Given the description of an element on the screen output the (x, y) to click on. 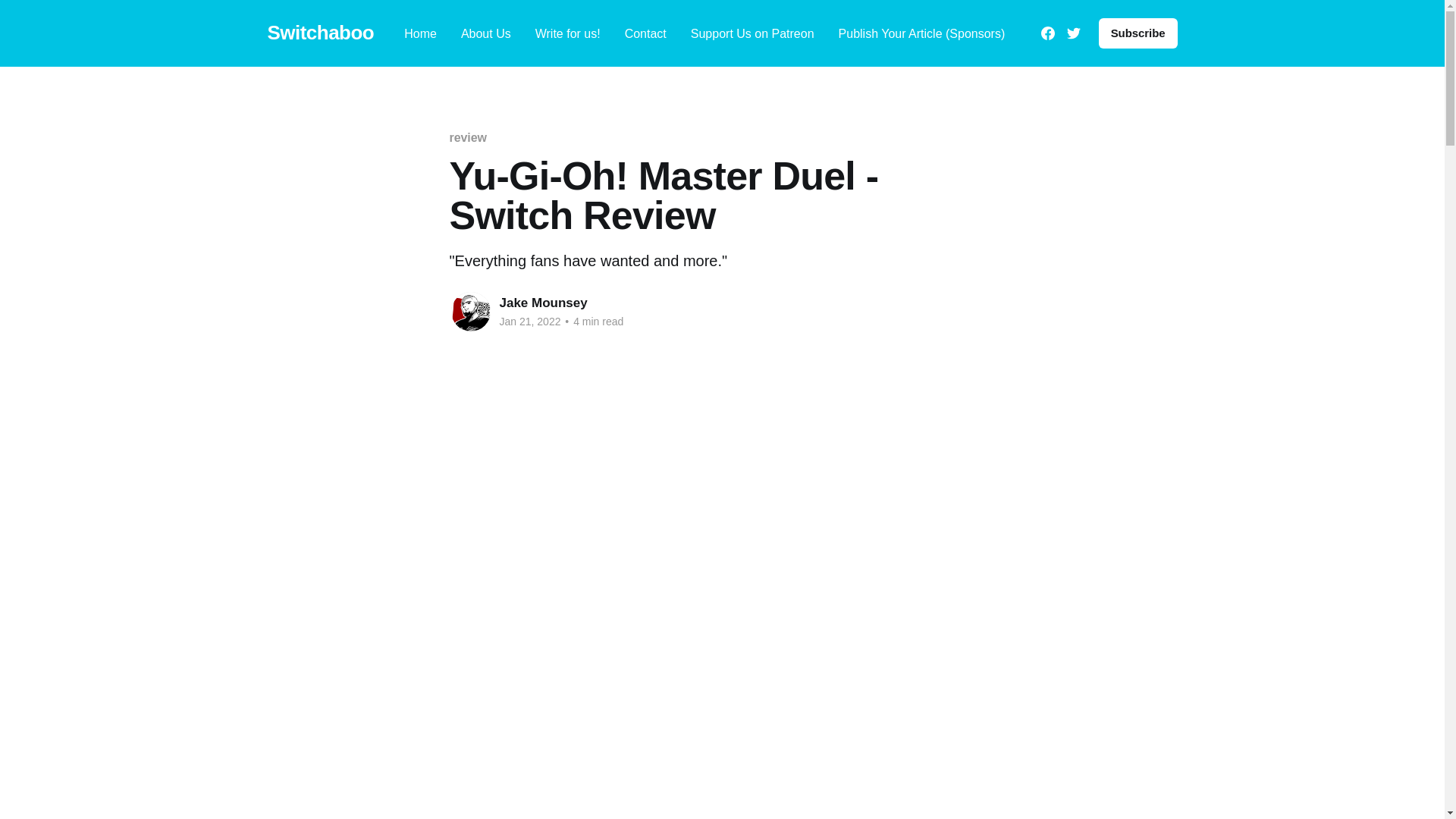
Contact (645, 33)
Twitter (1073, 33)
Facebook (1047, 33)
Support Us on Patreon (751, 33)
review (467, 137)
About Us (486, 33)
Subscribe (1138, 33)
Switchaboo (320, 32)
Write for us! (567, 33)
Home (420, 33)
Jake Mounsey (542, 302)
